Given the description of an element on the screen output the (x, y) to click on. 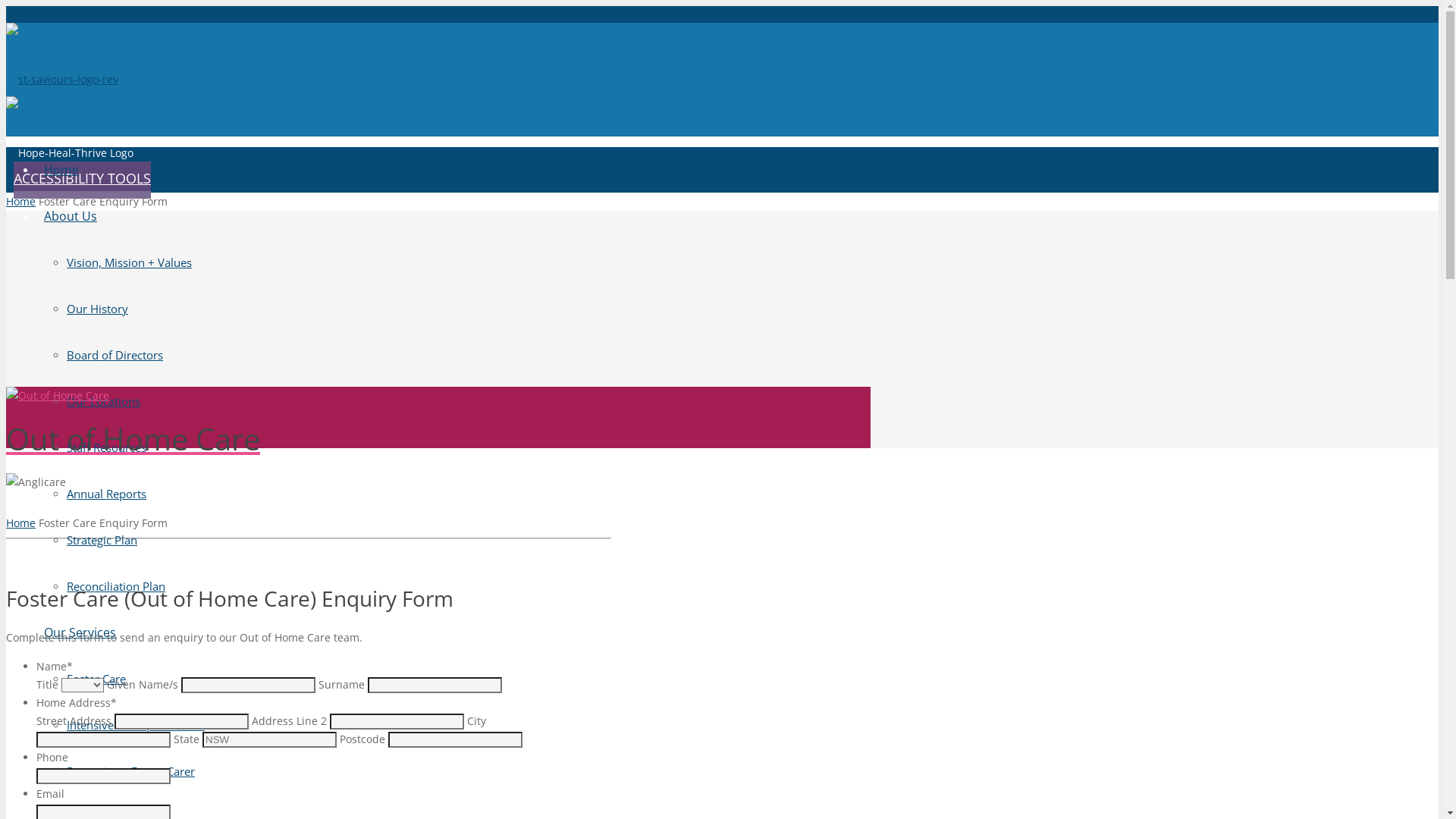
Annual Reports Element type: text (106, 493)
Our Services Element type: text (79, 632)
Home Element type: text (61, 169)
Reconciliation Plan Element type: text (115, 585)
Intensive Therapeutic Care Element type: text (135, 724)
Our Locations Element type: text (103, 400)
Becoming a Foster Carer Element type: text (130, 770)
Home Element type: text (20, 201)
Our History Element type: text (97, 308)
Staff Resources Element type: text (106, 447)
Home Element type: text (20, 522)
Foster Care Element type: text (95, 678)
About Us Element type: text (70, 215)
Strategic Plan Element type: text (101, 539)
Vision, Mission + Values Element type: text (128, 261)
Board of Directors Element type: text (114, 354)
Out of Home Care Element type: text (438, 417)
ACCESSIBILITY TOOLS Element type: text (81, 179)
